Given the description of an element on the screen output the (x, y) to click on. 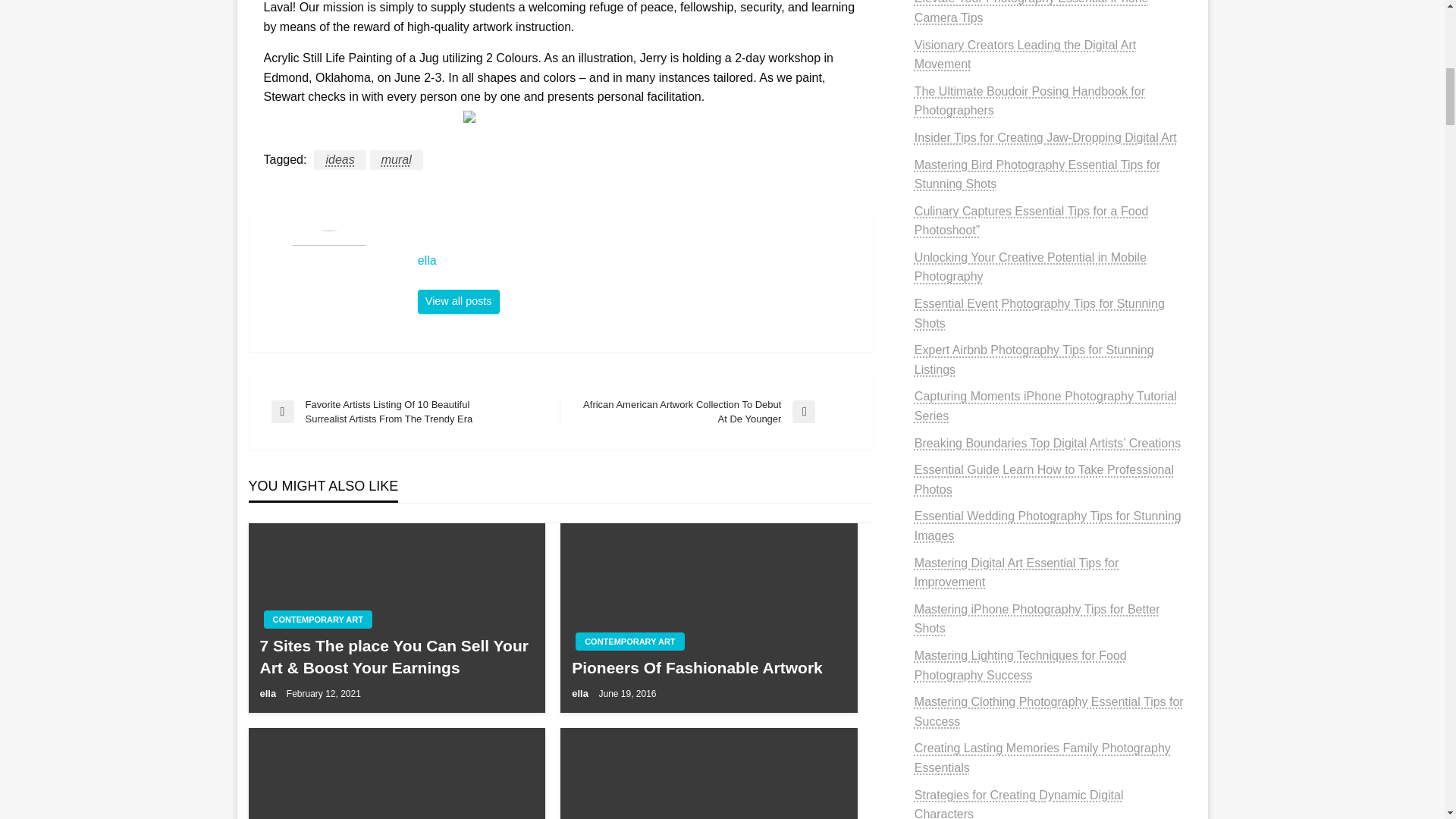
ella (458, 301)
ella (637, 260)
